Given the description of an element on the screen output the (x, y) to click on. 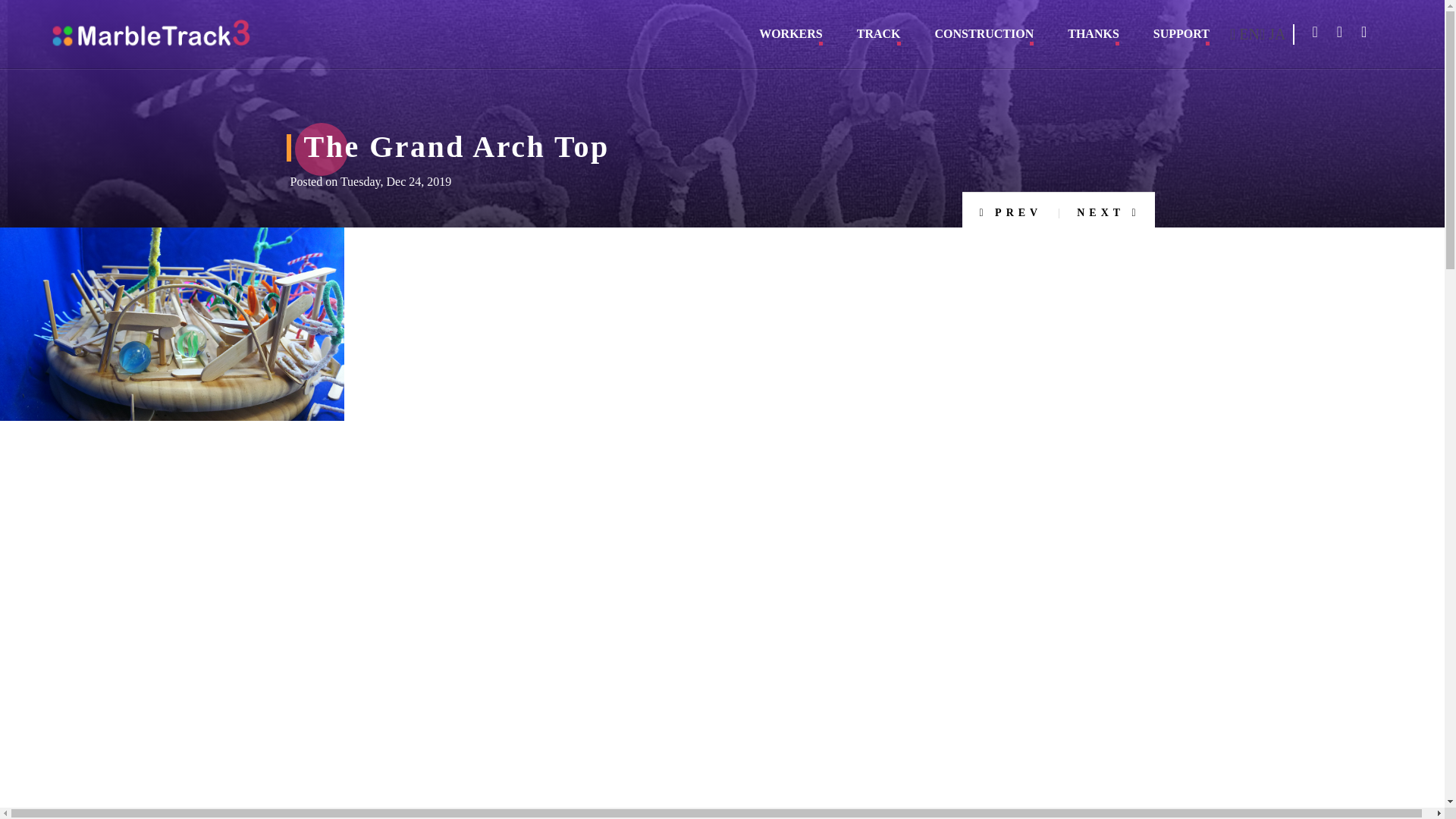
NEXT (1107, 209)
JA (1272, 33)
THANKS (1093, 39)
PREV (1010, 209)
EN (1244, 33)
CONSTRUCTION (983, 39)
WORKERS (790, 39)
SUPPORT (1181, 39)
